Given the description of an element on the screen output the (x, y) to click on. 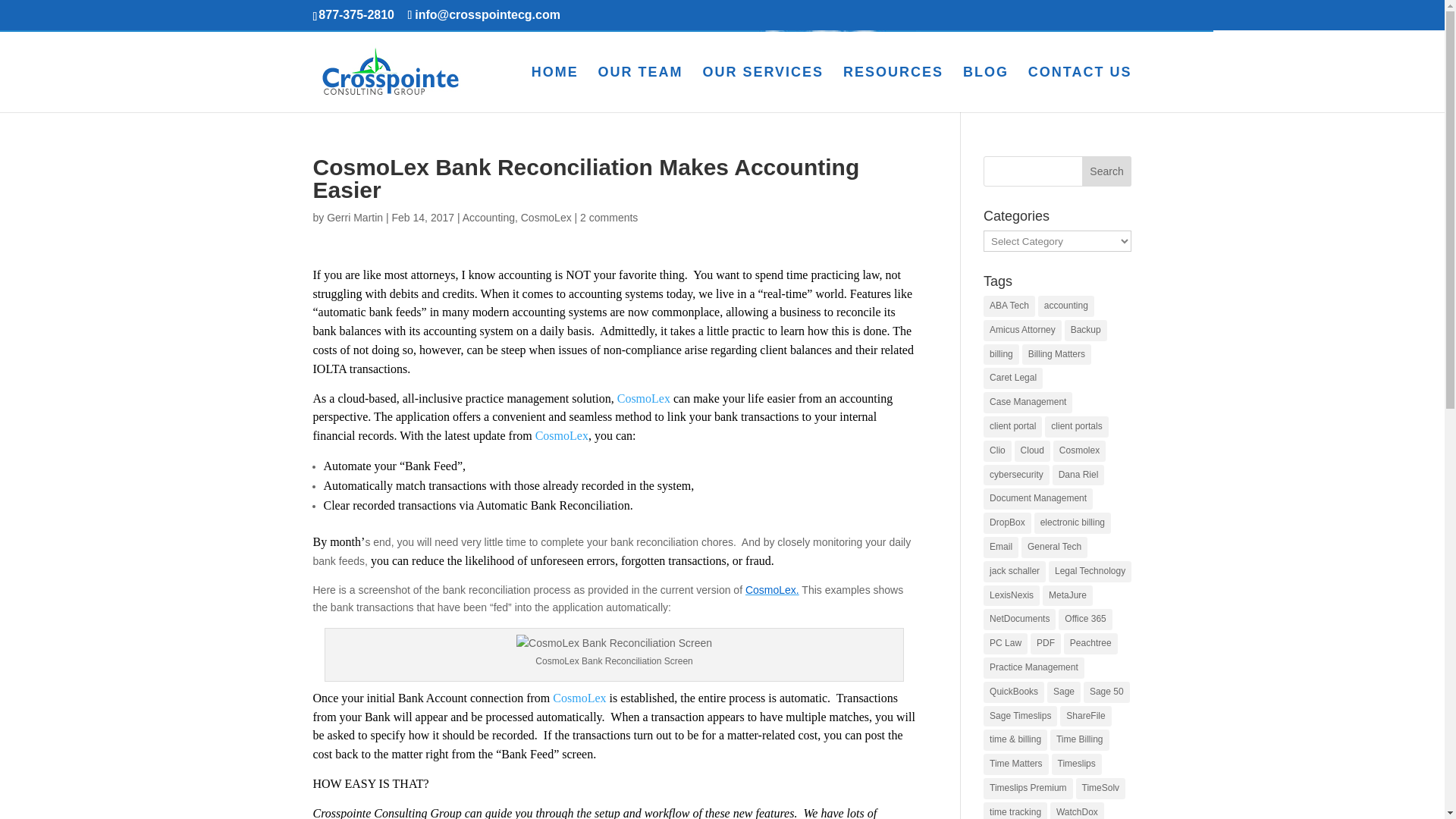
CosmoLex (546, 217)
OUR TEAM (640, 89)
CONTACT US (1079, 89)
client portal (1013, 426)
Caret Legal (1013, 378)
OUR SERVICES (762, 89)
HOME (554, 89)
BLOG (985, 89)
Search (1106, 171)
Posts by Gerri Martin (354, 217)
Clio (997, 450)
CosmoLex  (644, 398)
CosmoLex (561, 435)
accounting (1066, 305)
Amicus Attorney (1022, 330)
